Given the description of an element on the screen output the (x, y) to click on. 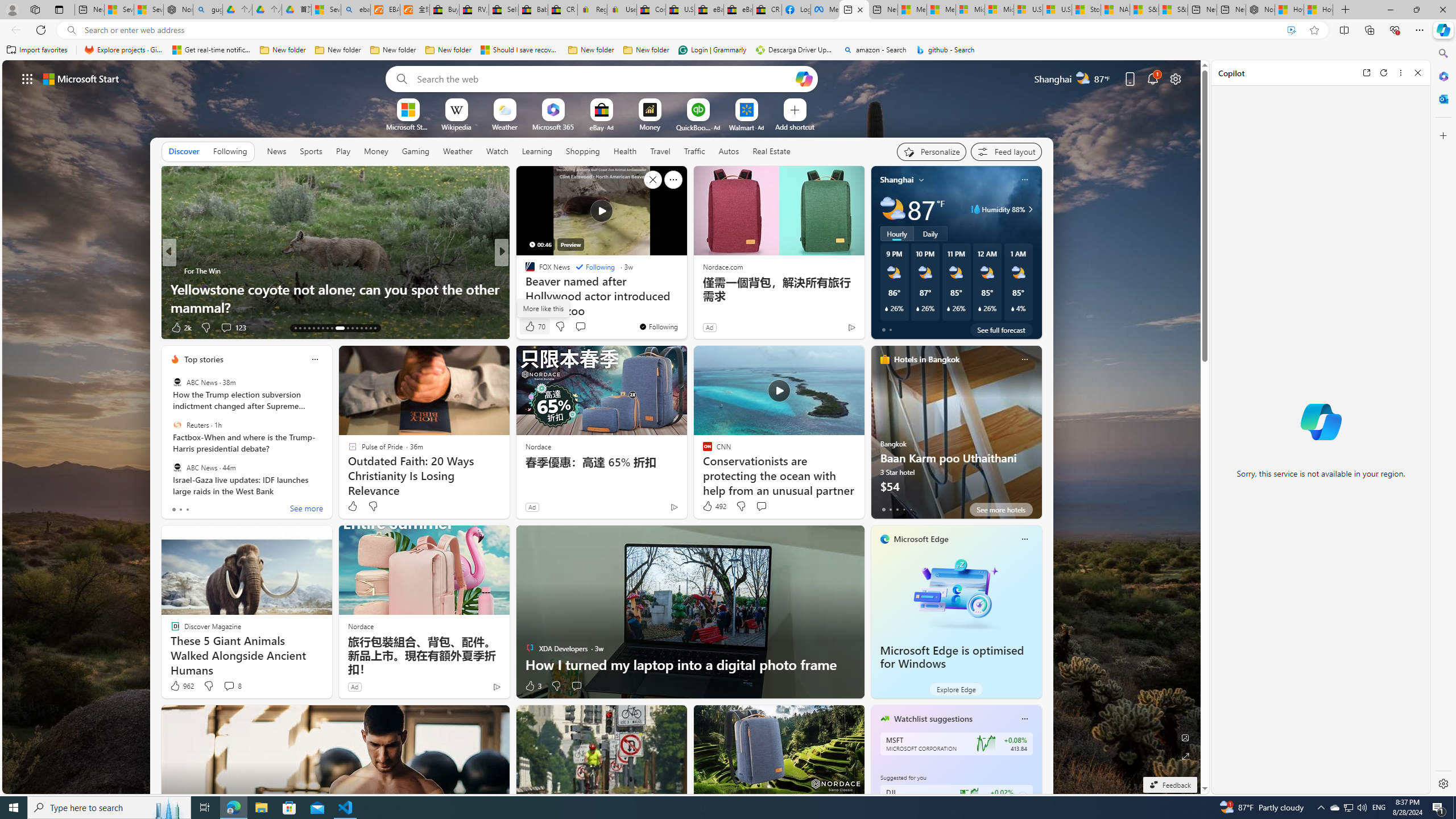
Baan Karm poo Uthaithani (956, 436)
2 hours of Extreme Shark Encounters (684, 307)
Nordace.com (722, 266)
github - Search (945, 49)
AutomationID: tab-34 (370, 328)
Shanghai (896, 179)
You're following FOX News (657, 326)
AutomationID: tab-18 (317, 328)
315 Like (532, 327)
